Given the description of an element on the screen output the (x, y) to click on. 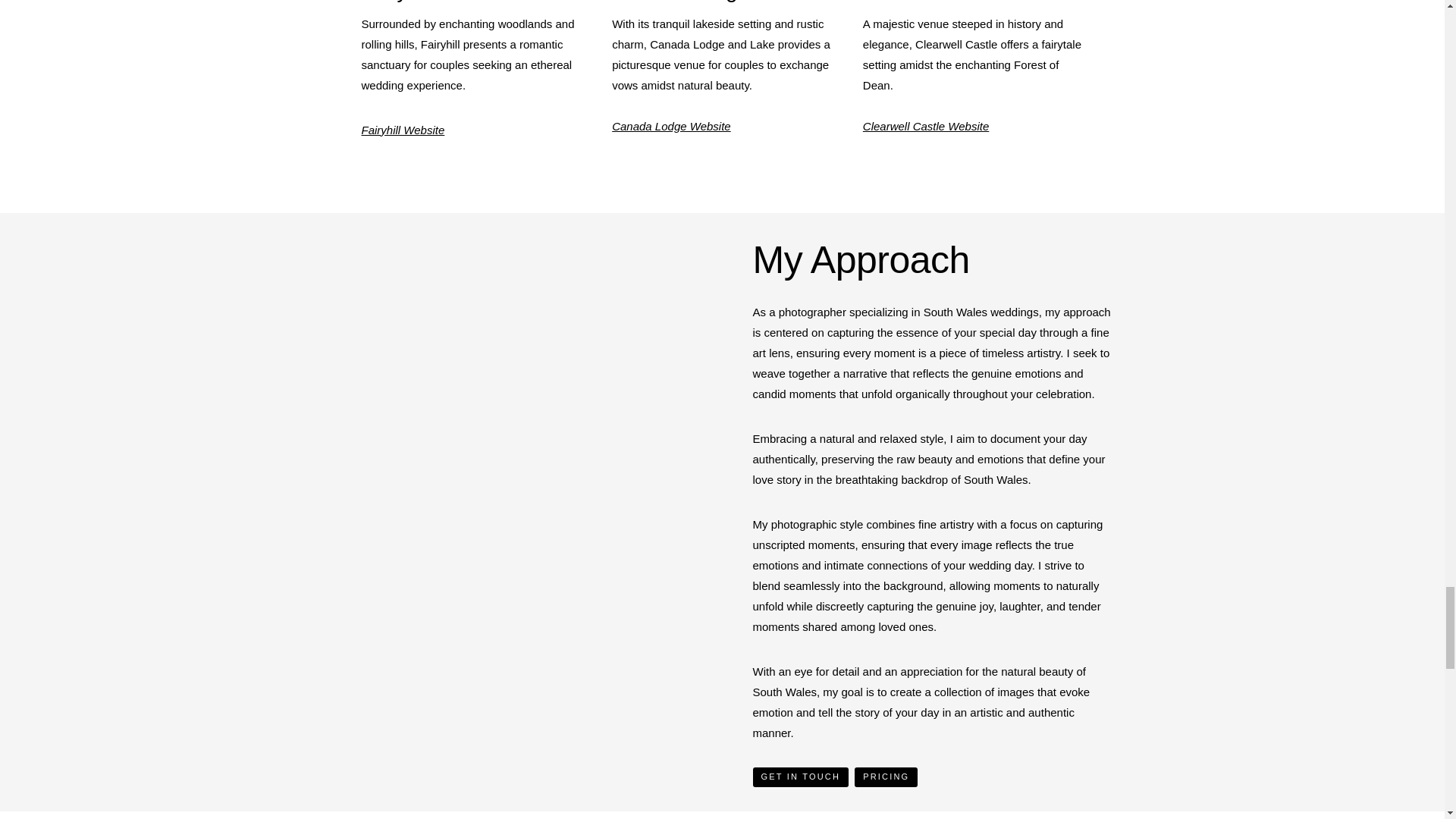
GET IN TOUCH (800, 777)
Fairyhill Website (402, 129)
Canada Lodge Website (670, 125)
Clearwell Castle Website (925, 125)
PRICING (885, 777)
